Given the description of an element on the screen output the (x, y) to click on. 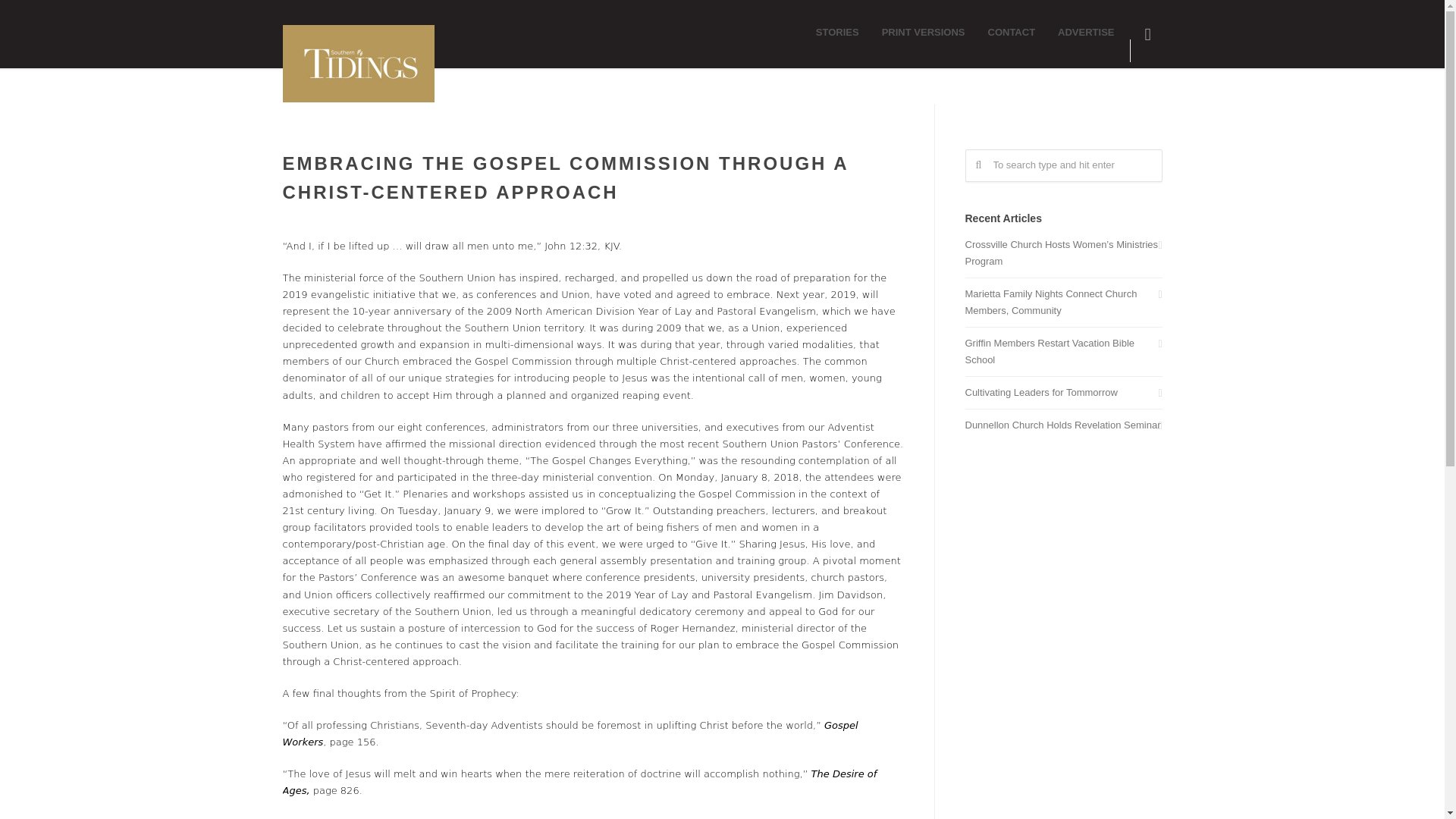
STORIES (837, 32)
To search type and hit enter (1062, 165)
PRINT VERSIONS (923, 32)
CONTACT (1011, 32)
